Given the description of an element on the screen output the (x, y) to click on. 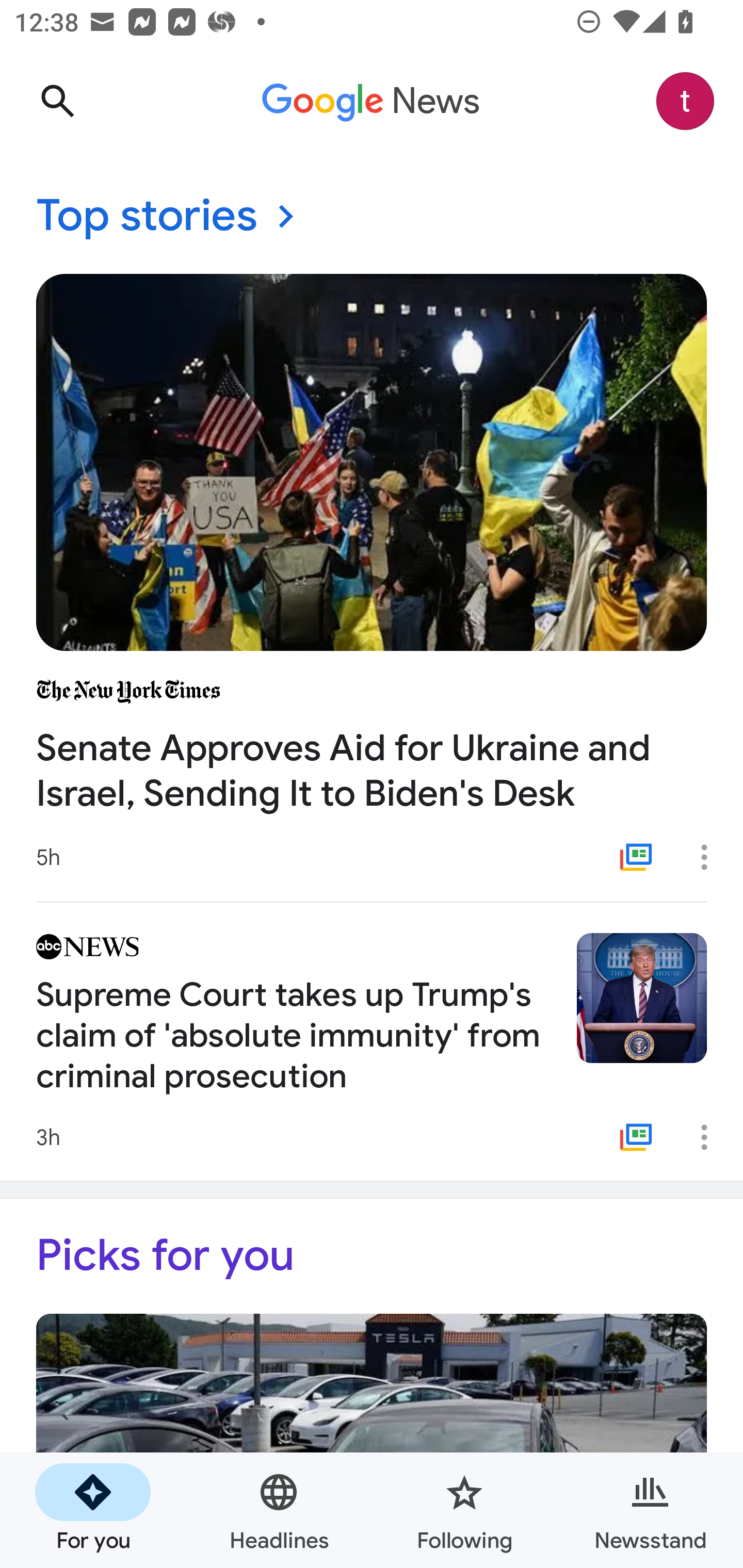
Search (57, 100)
Top stories (371, 216)
More options (711, 856)
More options (711, 1137)
For you (92, 1509)
Headlines (278, 1509)
Following (464, 1509)
Newsstand (650, 1509)
